Given the description of an element on the screen output the (x, y) to click on. 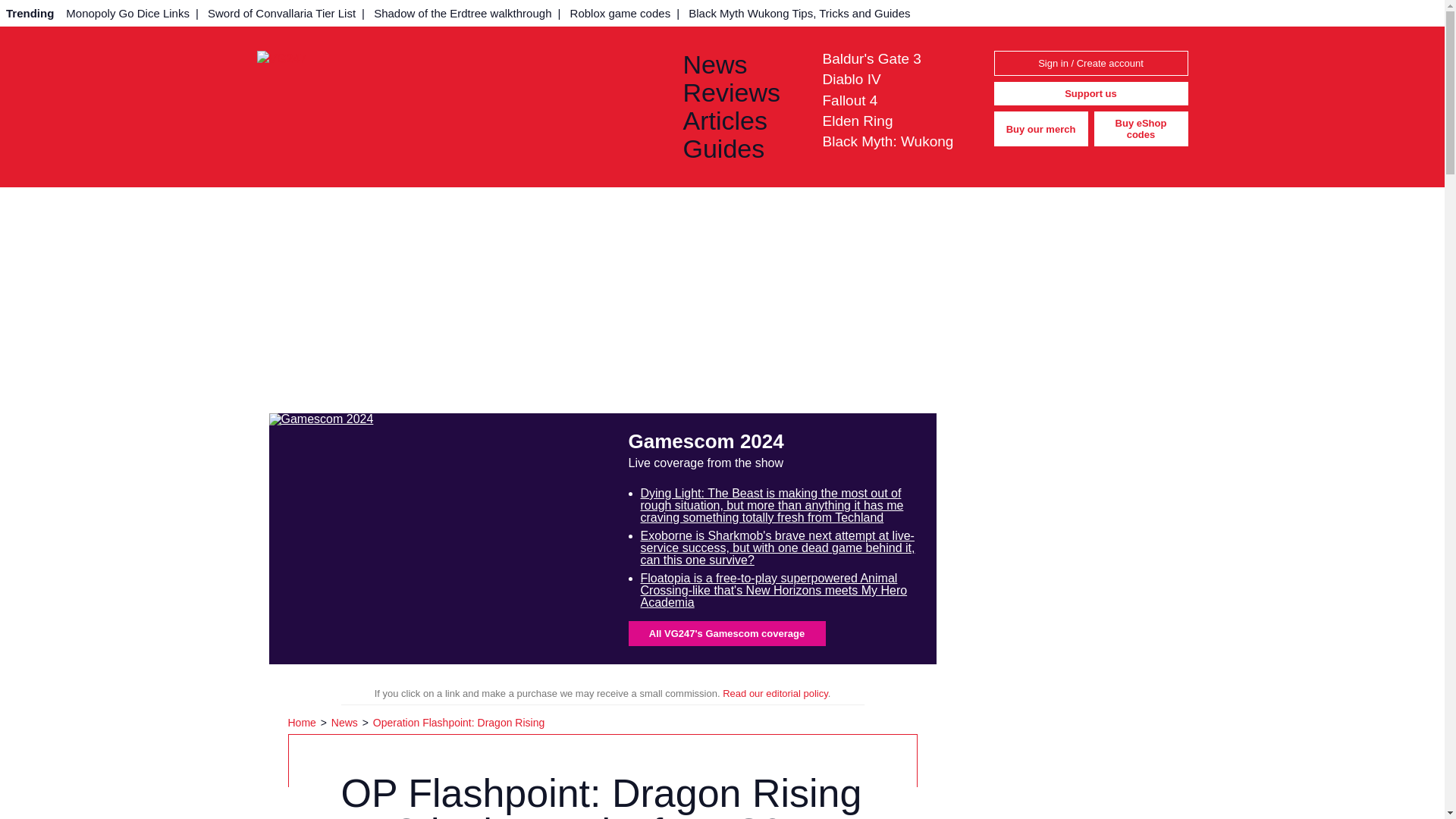
Buy our merch (1039, 128)
Reviews (739, 92)
Monopoly Go Dice Links (127, 13)
News (739, 64)
Guides (739, 148)
Black Myth: Wukong (887, 141)
Monopoly Go Dice Links (127, 13)
Home (303, 722)
Guides (739, 148)
News (346, 722)
